Given the description of an element on the screen output the (x, y) to click on. 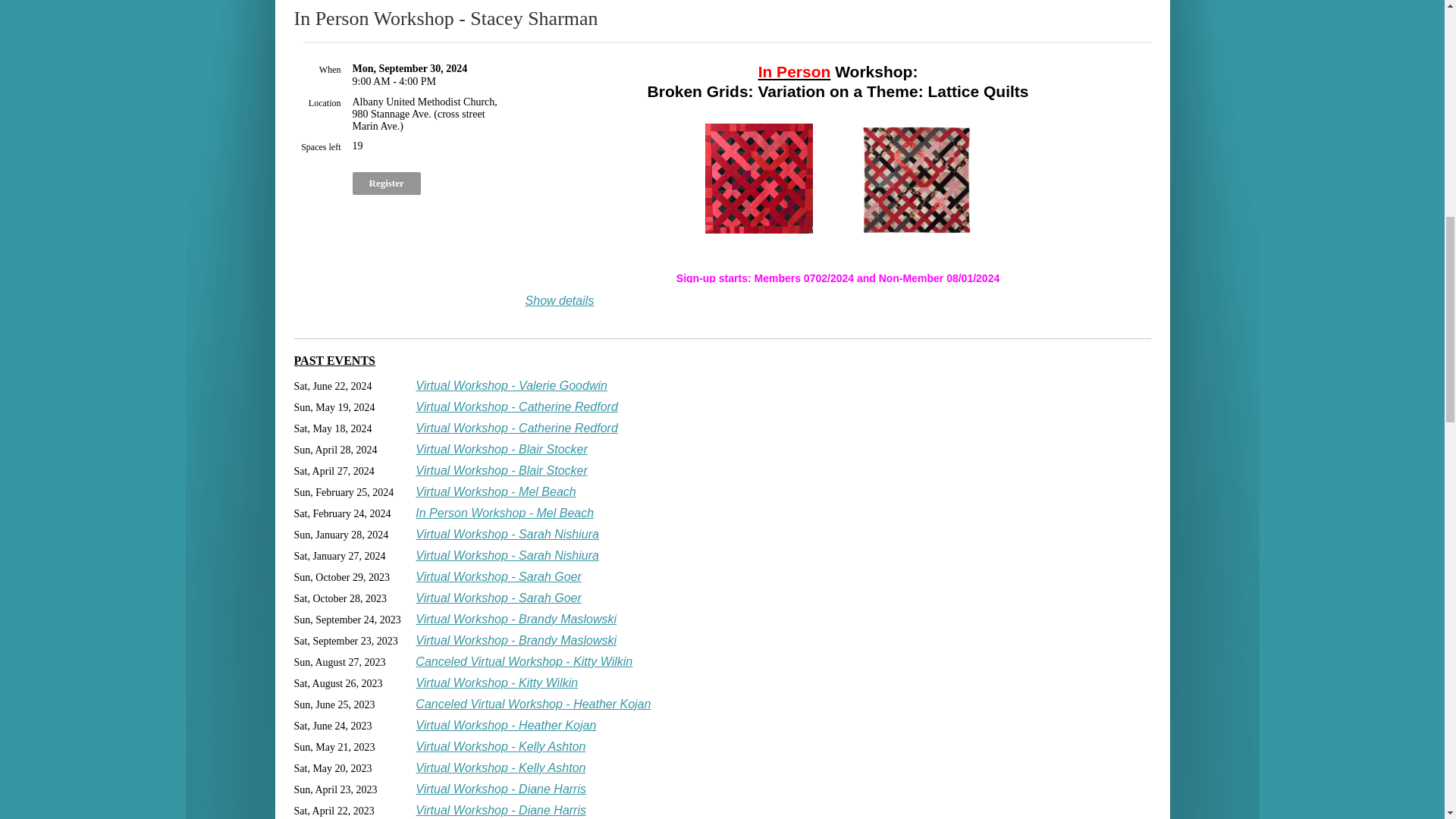
Register (386, 182)
